Given the description of an element on the screen output the (x, y) to click on. 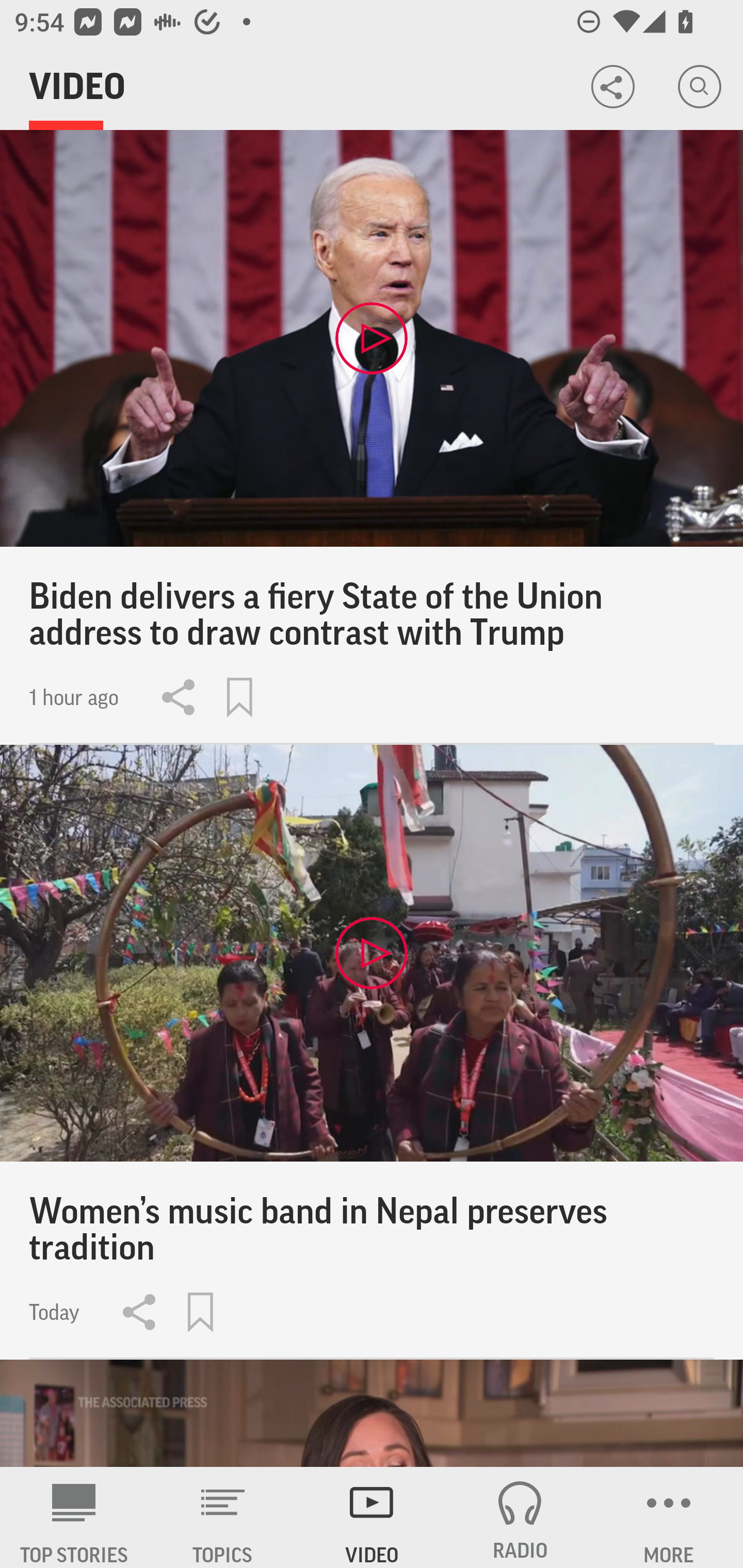
AP News TOP STORIES (74, 1517)
TOPICS (222, 1517)
VIDEO (371, 1517)
RADIO (519, 1517)
MORE (668, 1517)
